Given the description of an element on the screen output the (x, y) to click on. 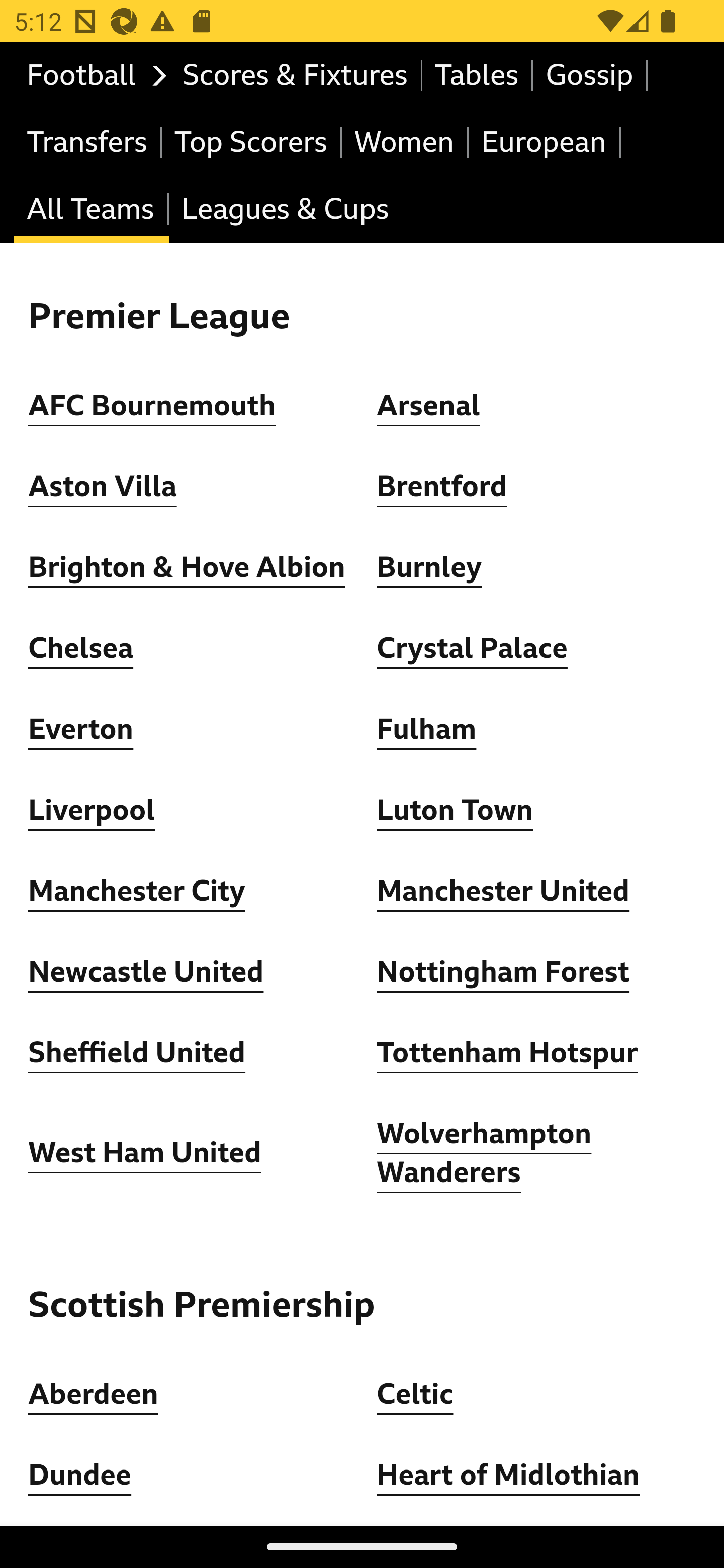
AFC Bournemouth (151, 405)
Arsenal (428, 405)
Aston Villa (102, 486)
Brentford (442, 486)
Brighton & Hove Albion (187, 567)
Burnley (429, 567)
Chelsea (80, 648)
Crystal Palace (472, 648)
Everton (80, 729)
Fulham (426, 729)
Liverpool (92, 810)
Luton Town (455, 810)
Manchester City (137, 891)
Manchester United (503, 891)
Newcastle United (146, 971)
Nottingham Forest (503, 971)
Sheffield United (137, 1053)
Tottenham Hotspur (507, 1053)
Wolverhampton Wanderers (484, 1153)
West Ham United (145, 1153)
Aberdeen (94, 1394)
Celtic (414, 1394)
Dundee (79, 1475)
Heart of Midlothian (508, 1475)
